Given the description of an element on the screen output the (x, y) to click on. 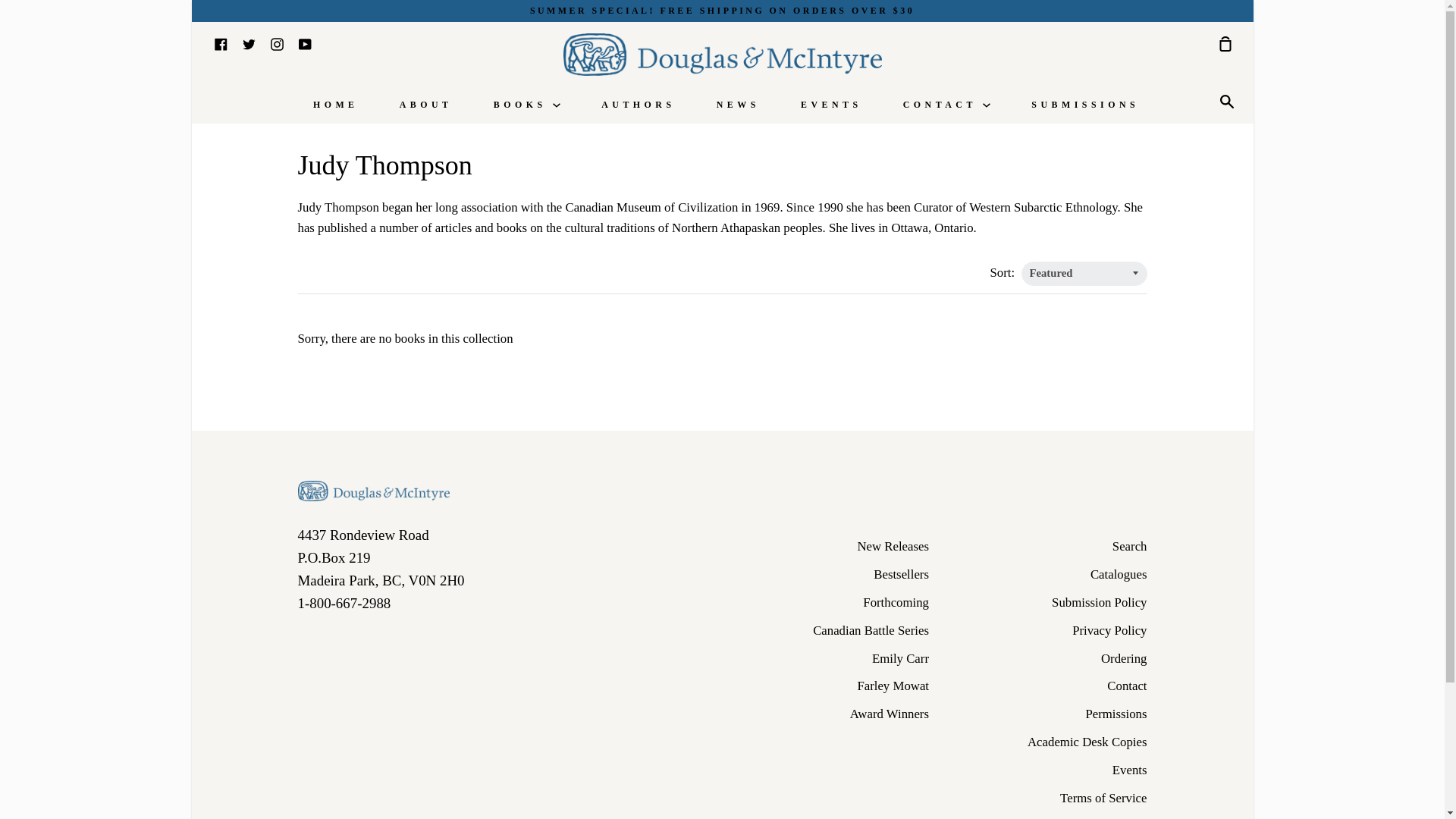
HOME (335, 104)
Facebook (220, 42)
YouTube (304, 42)
BOOKS (526, 104)
Twitter (249, 42)
ABOUT (426, 104)
Instagram (275, 42)
